Given the description of an element on the screen output the (x, y) to click on. 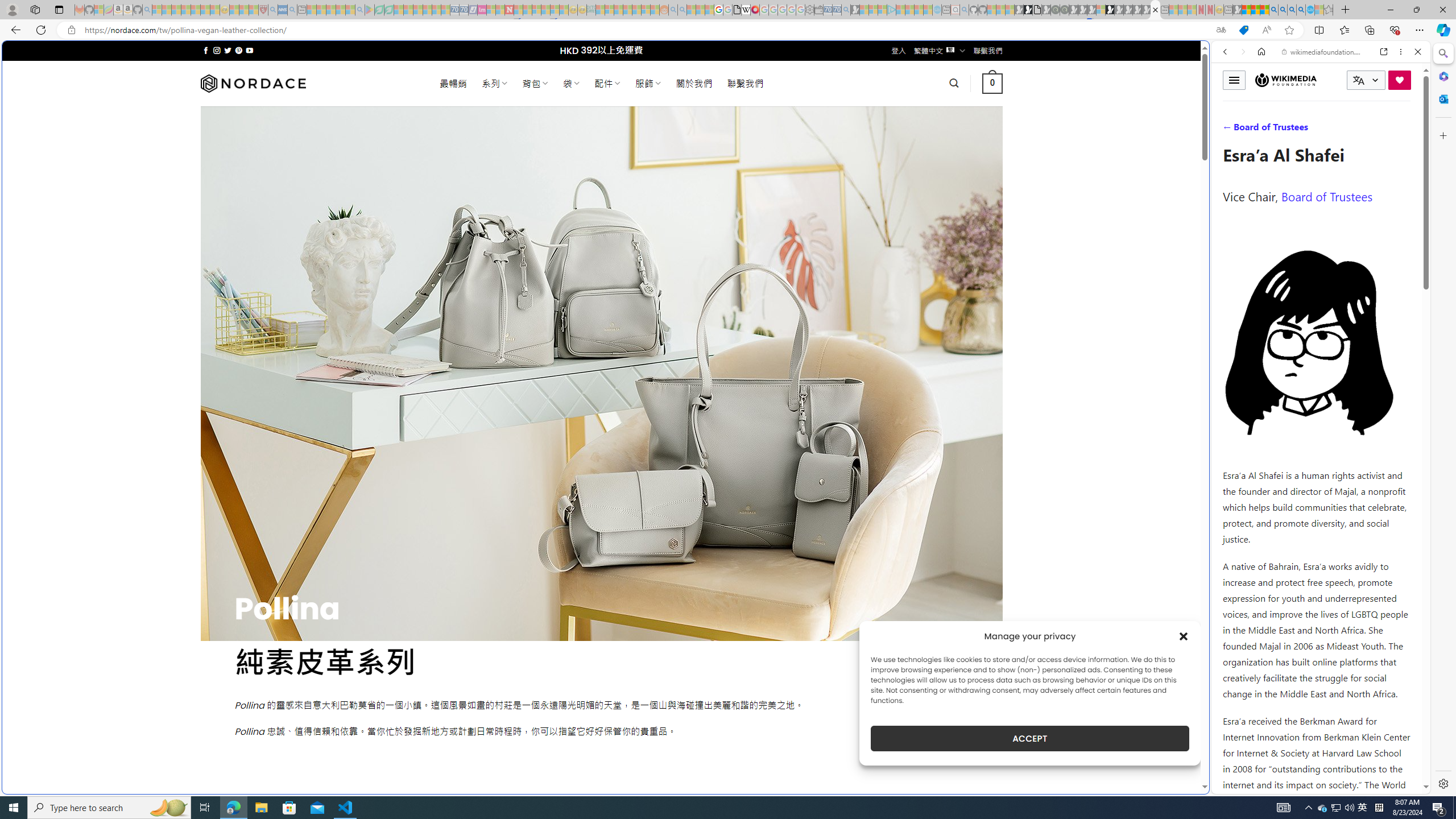
 0  (992, 83)
Board of Trustees (1326, 195)
Play Zoo Boom in your browser | Games from Microsoft Start (1027, 9)
Latest Politics News & Archive | Newsweek.com - Sleeping (508, 9)
Settings - Sleeping (809, 9)
Class: b_serphb (1404, 130)
Tabs you've opened (885, 151)
Close (1417, 51)
